Given the description of an element on the screen output the (x, y) to click on. 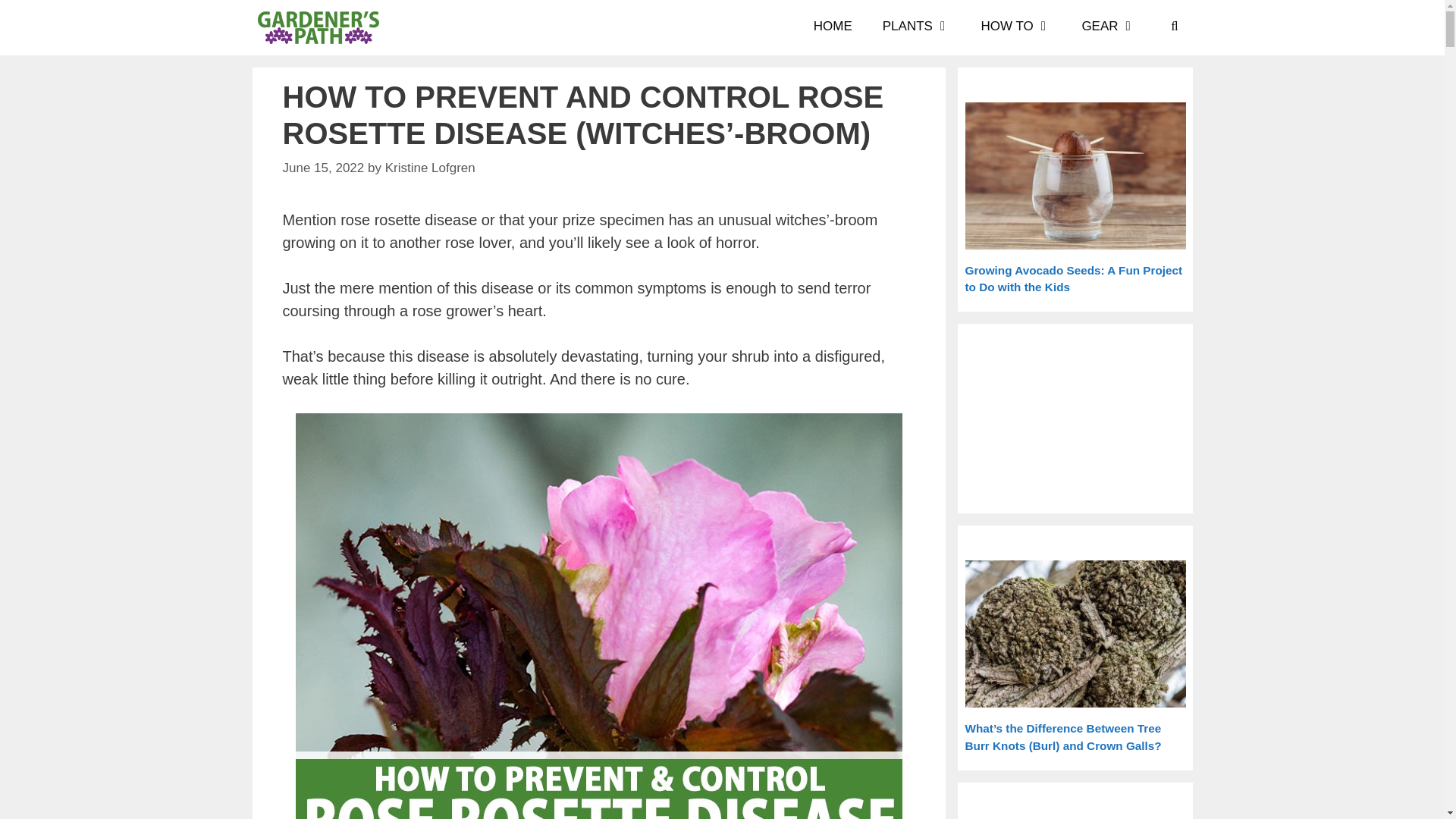
View all posts by Kristine Lofgren (430, 167)
HOW TO (1016, 26)
HOME (832, 26)
PLANTS (916, 26)
GEAR (1108, 26)
